Given the description of an element on the screen output the (x, y) to click on. 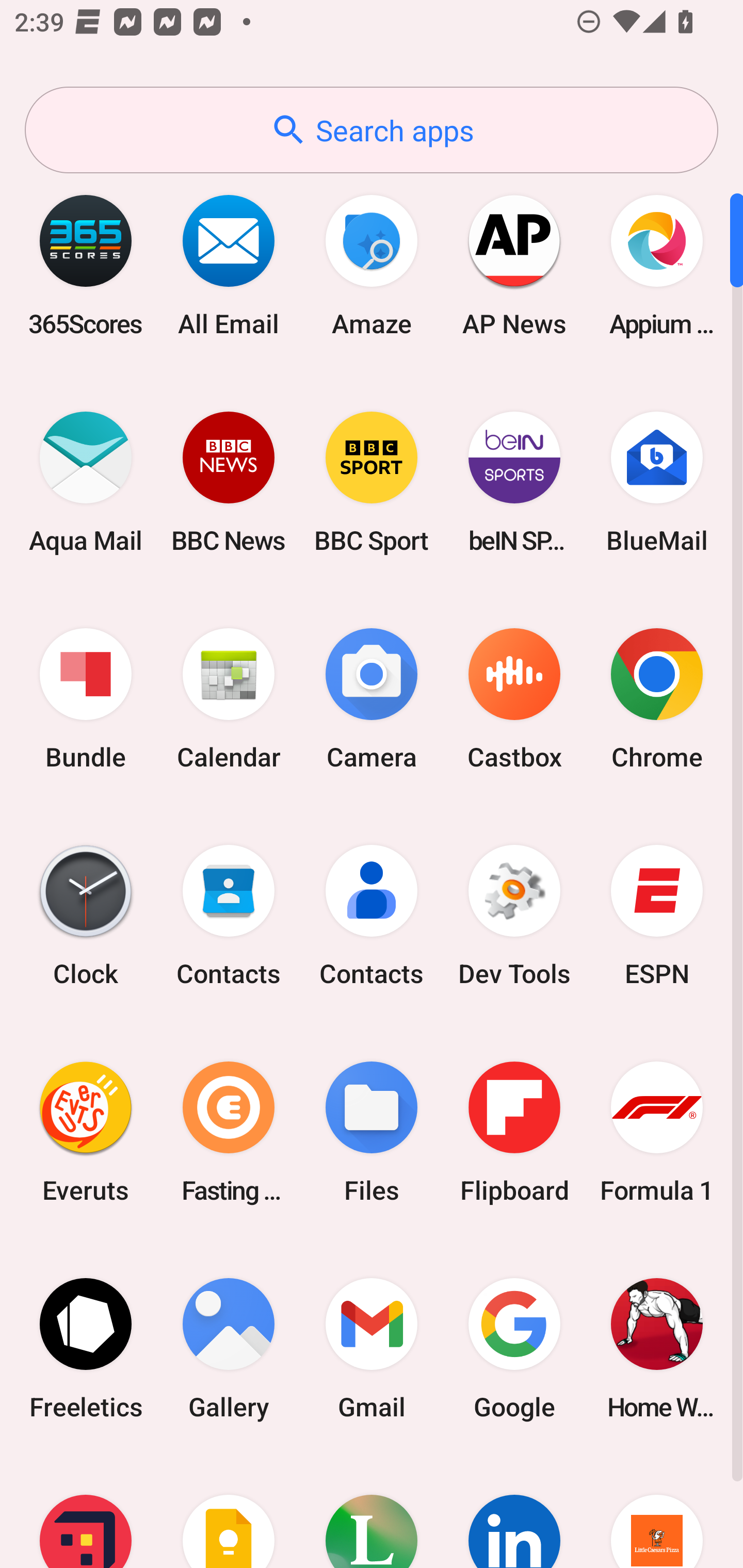
  Search apps (371, 130)
365Scores (85, 264)
All Email (228, 264)
Amaze (371, 264)
AP News (514, 264)
Appium Settings (656, 264)
Aqua Mail (85, 482)
BBC News (228, 482)
BBC Sport (371, 482)
beIN SPORTS (514, 482)
BlueMail (656, 482)
Bundle (85, 699)
Calendar (228, 699)
Camera (371, 699)
Castbox (514, 699)
Chrome (656, 699)
Clock (85, 915)
Contacts (228, 915)
Contacts (371, 915)
Dev Tools (514, 915)
ESPN (656, 915)
Everuts (85, 1131)
Fasting Coach (228, 1131)
Files (371, 1131)
Flipboard (514, 1131)
Formula 1 (656, 1131)
Freeletics (85, 1348)
Gallery (228, 1348)
Gmail (371, 1348)
Google (514, 1348)
Home Workout (656, 1348)
Hotels.com (85, 1512)
Keep Notes (228, 1512)
Lifesum (371, 1512)
LinkedIn (514, 1512)
Little Caesars Pizza (656, 1512)
